Given the description of an element on the screen output the (x, y) to click on. 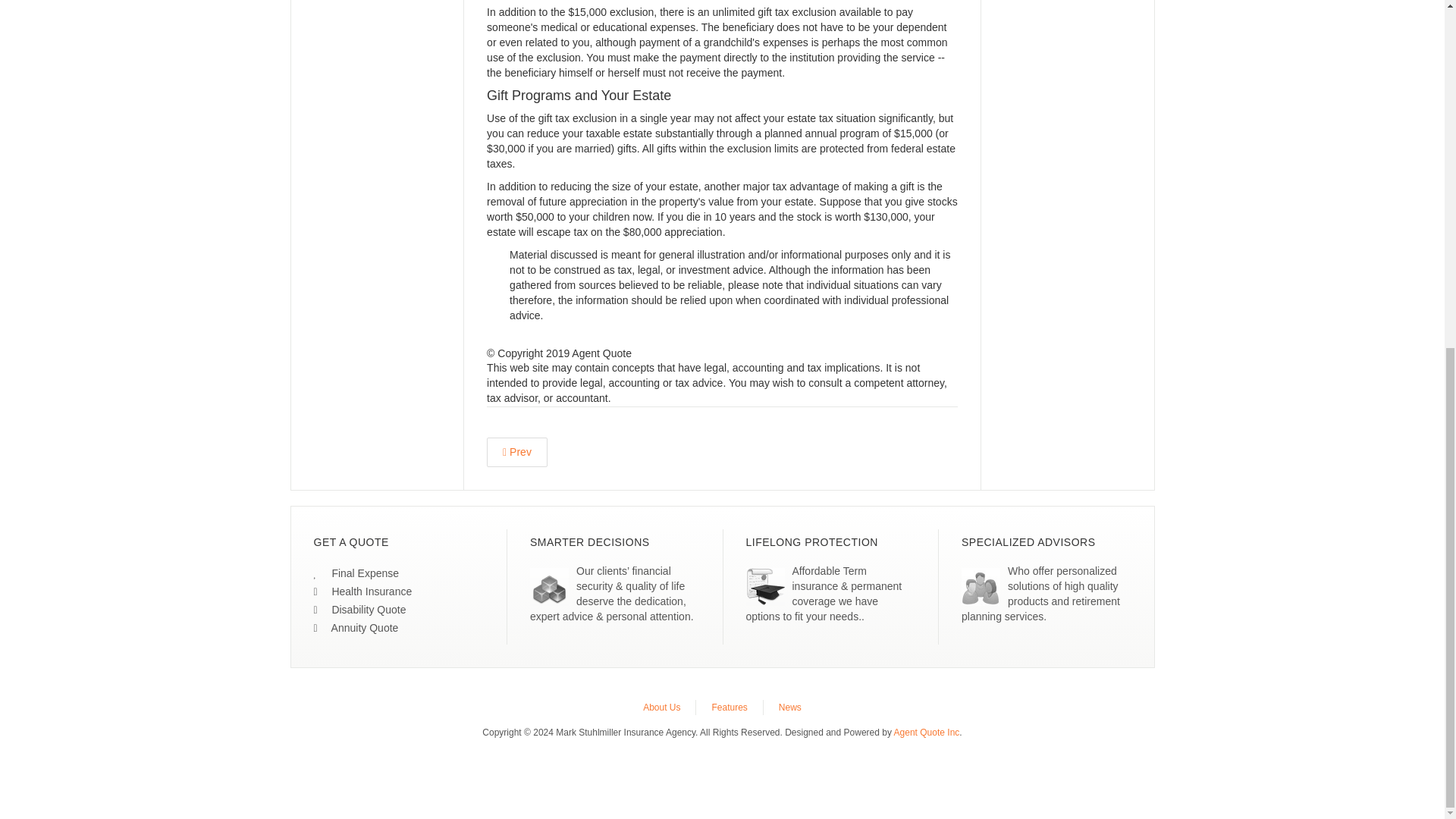
Agent Quote Inc (926, 732)
Sample link (360, 609)
Life Quote (356, 573)
Annuity Quote (356, 627)
Prev (516, 451)
Individual Health Quote (363, 591)
